Given the description of an element on the screen output the (x, y) to click on. 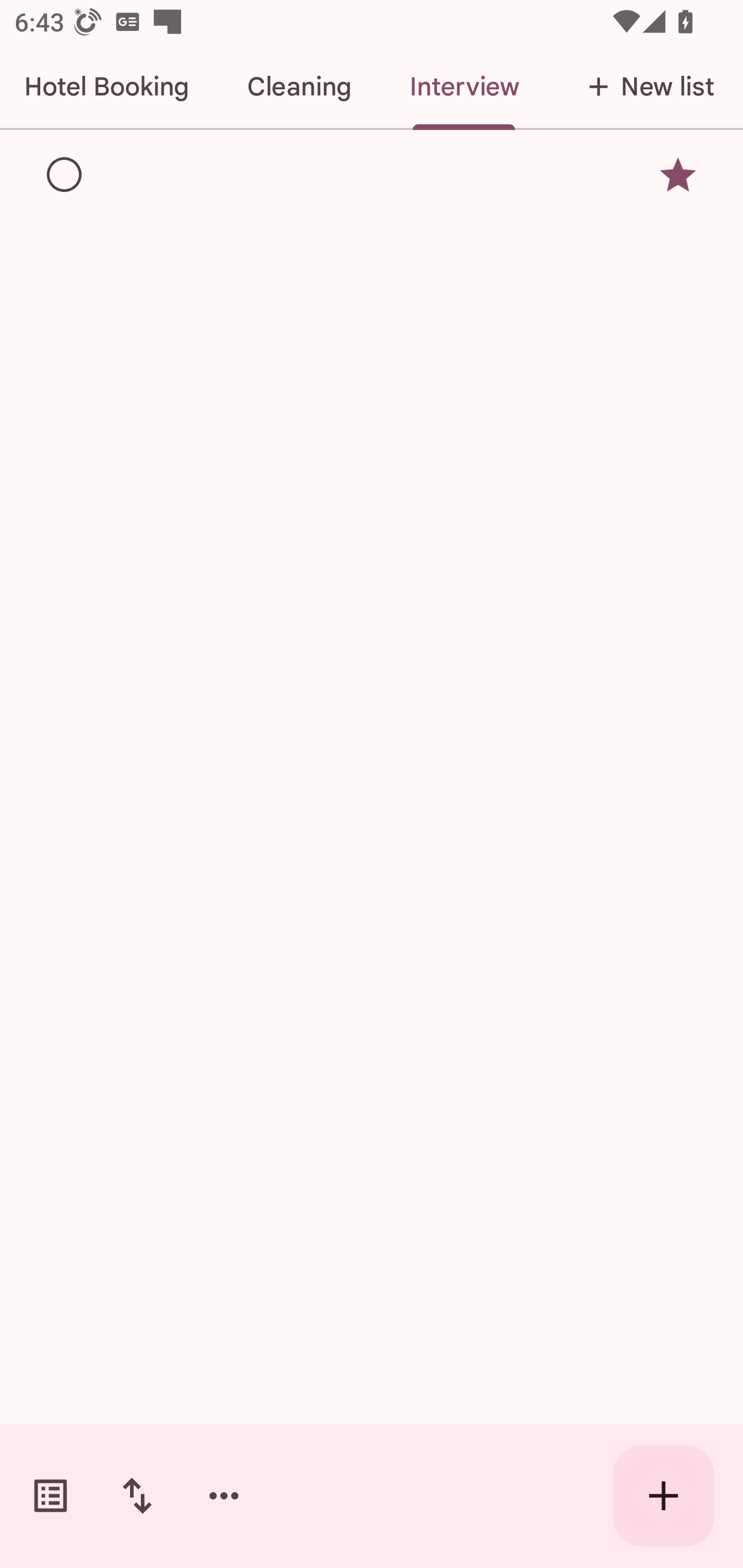
Hotel Booking (108, 86)
Cleaning (298, 86)
New list (645, 86)
(No title), Starred Remove star Mark as complete (371, 173)
Remove star (677, 174)
Mark as complete (64, 175)
Switch task lists (50, 1495)
Create new task (663, 1495)
Change sort order (136, 1495)
More options (223, 1495)
